Given the description of an element on the screen output the (x, y) to click on. 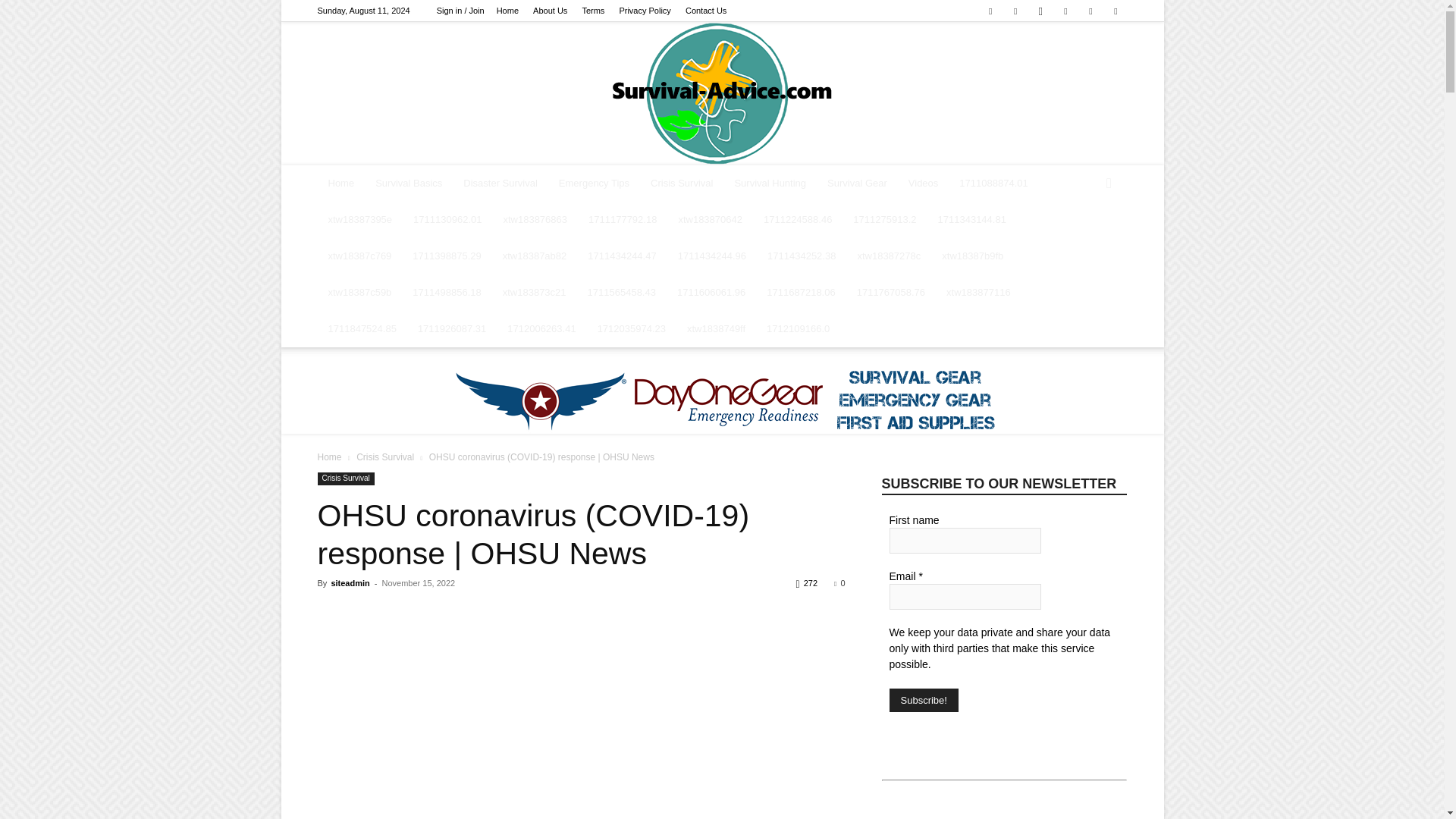
View all posts in Crisis Survival (384, 457)
Vimeo (1090, 10)
Instagram (1040, 10)
Twitter (1065, 10)
VKontakte (1114, 10)
Subscribe! (923, 699)
Behance (989, 10)
Facebook (1015, 10)
